Given the description of an element on the screen output the (x, y) to click on. 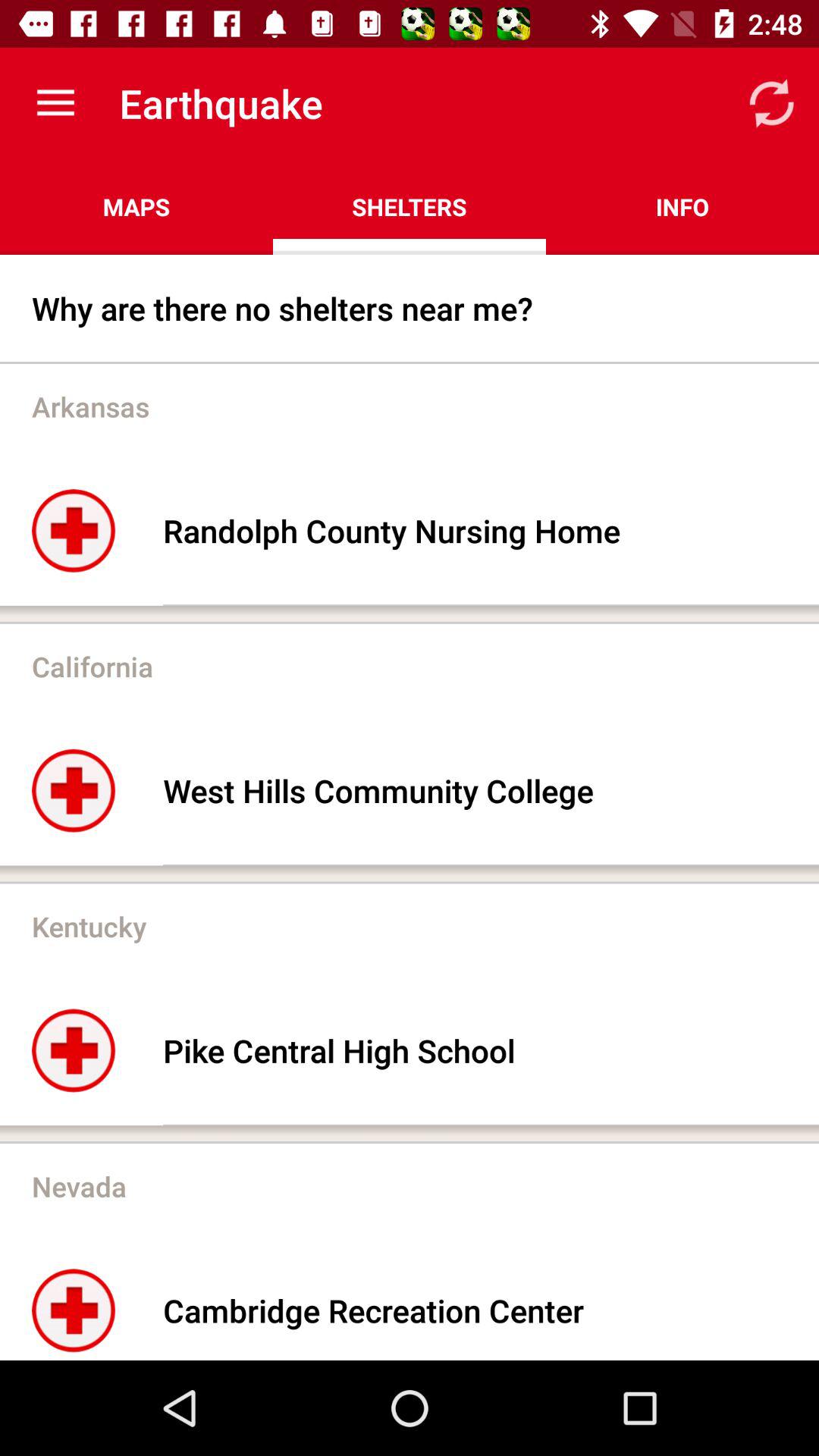
select the icon above why are there item (682, 206)
